Given the description of an element on the screen output the (x, y) to click on. 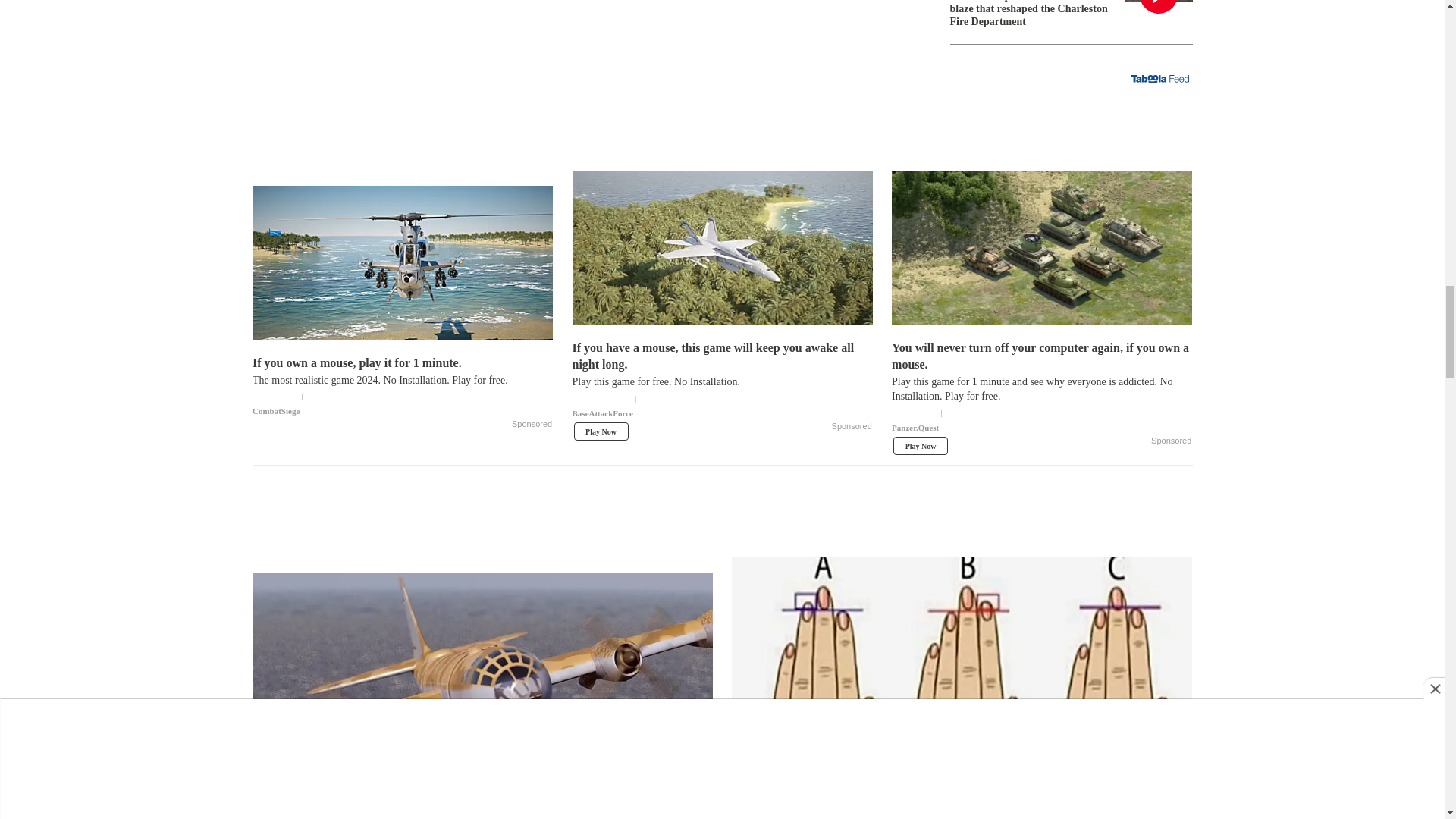
If you own a mouse, play it for 1 minute. (402, 386)
